Given the description of an element on the screen output the (x, y) to click on. 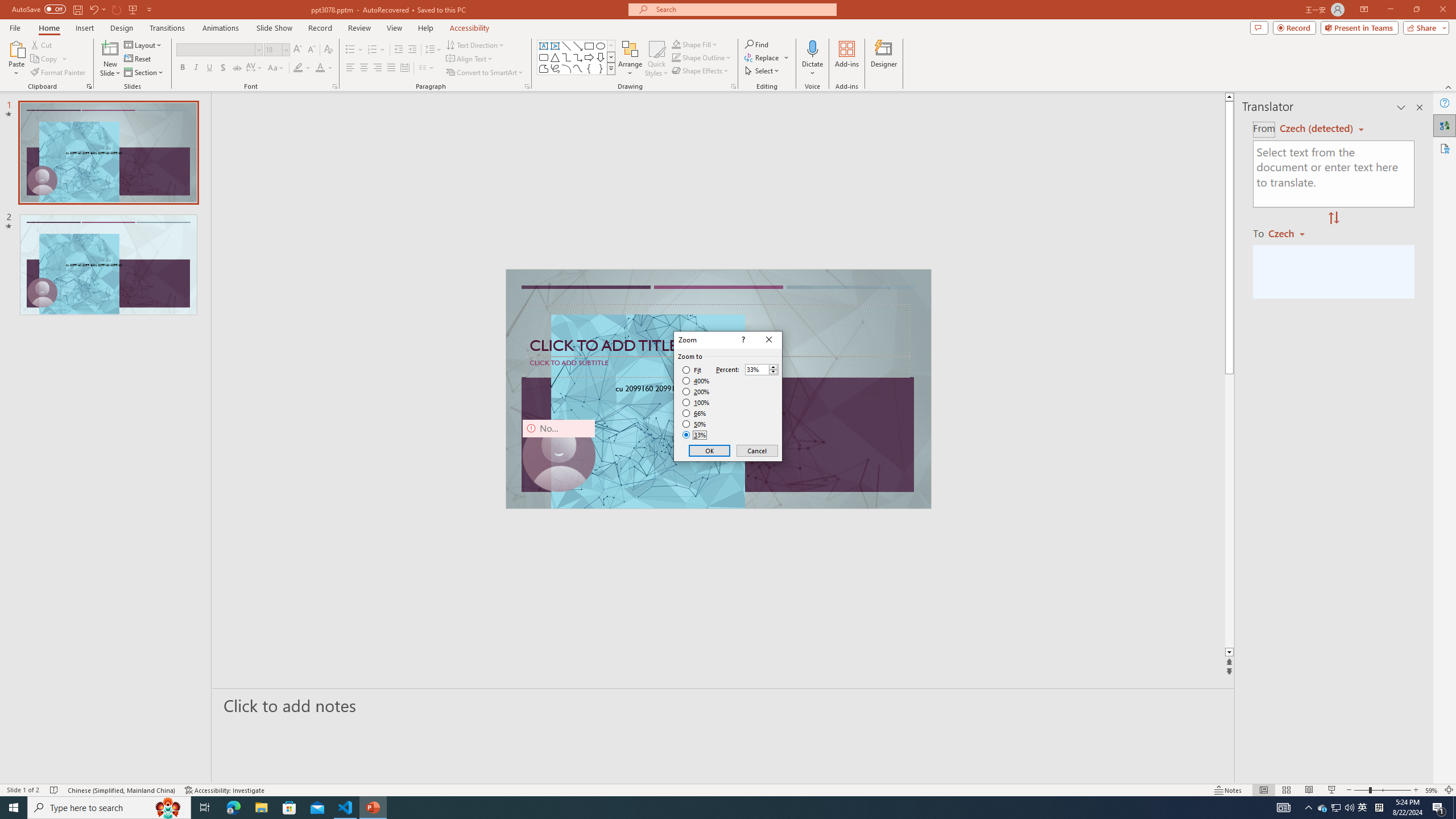
Underline (209, 67)
Reset (138, 58)
